Given the description of an element on the screen output the (x, y) to click on. 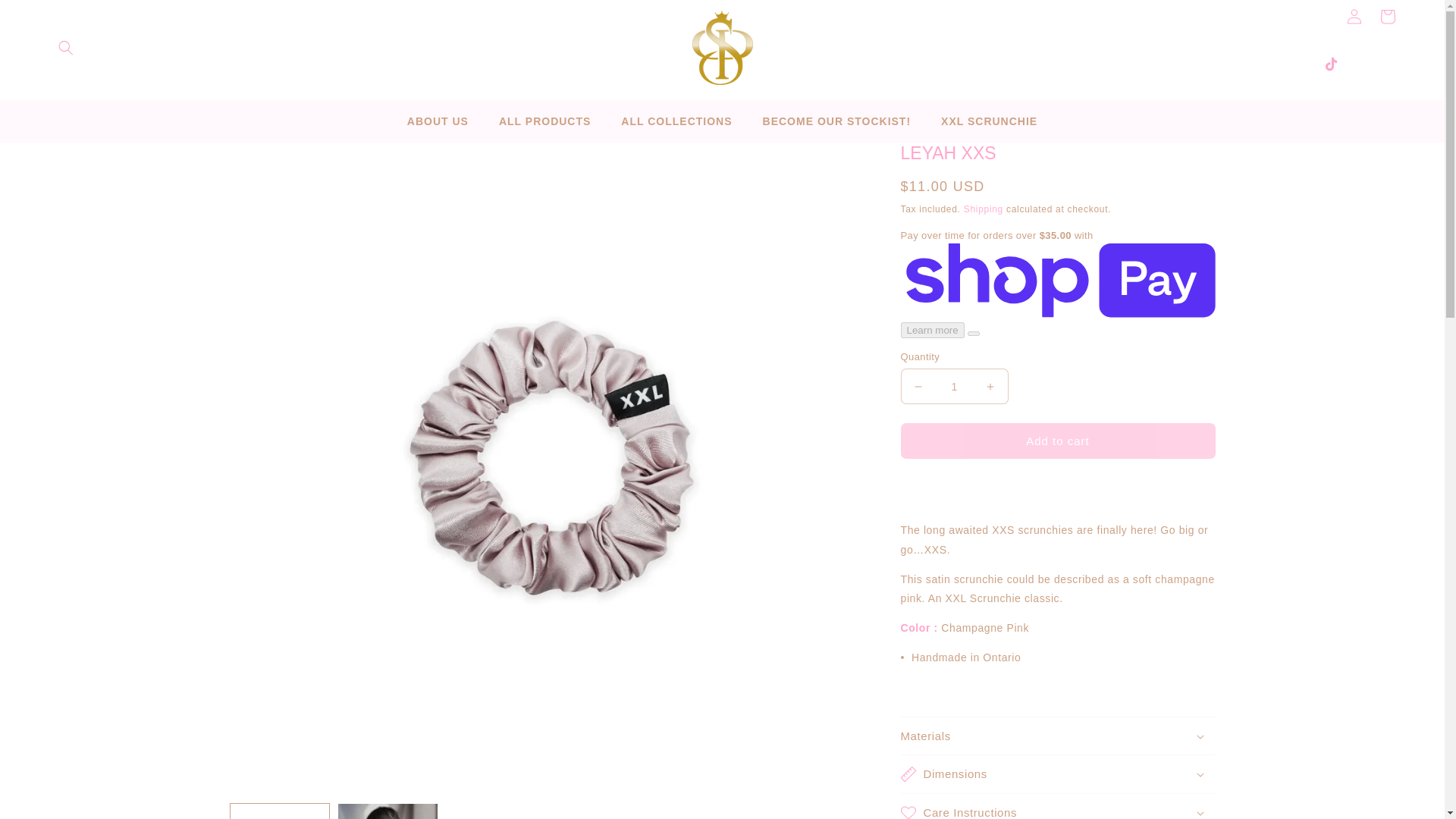
ALL PRODUCTS (544, 121)
1 (955, 386)
Skip to product information (274, 159)
Skip to content (45, 17)
Log in (1354, 16)
ALL COLLECTIONS (676, 121)
Cart (1388, 16)
XXL SCRUNCHIE (989, 121)
BECOME OUR STOCKIST! (837, 121)
ABOUT US (438, 121)
